Given the description of an element on the screen output the (x, y) to click on. 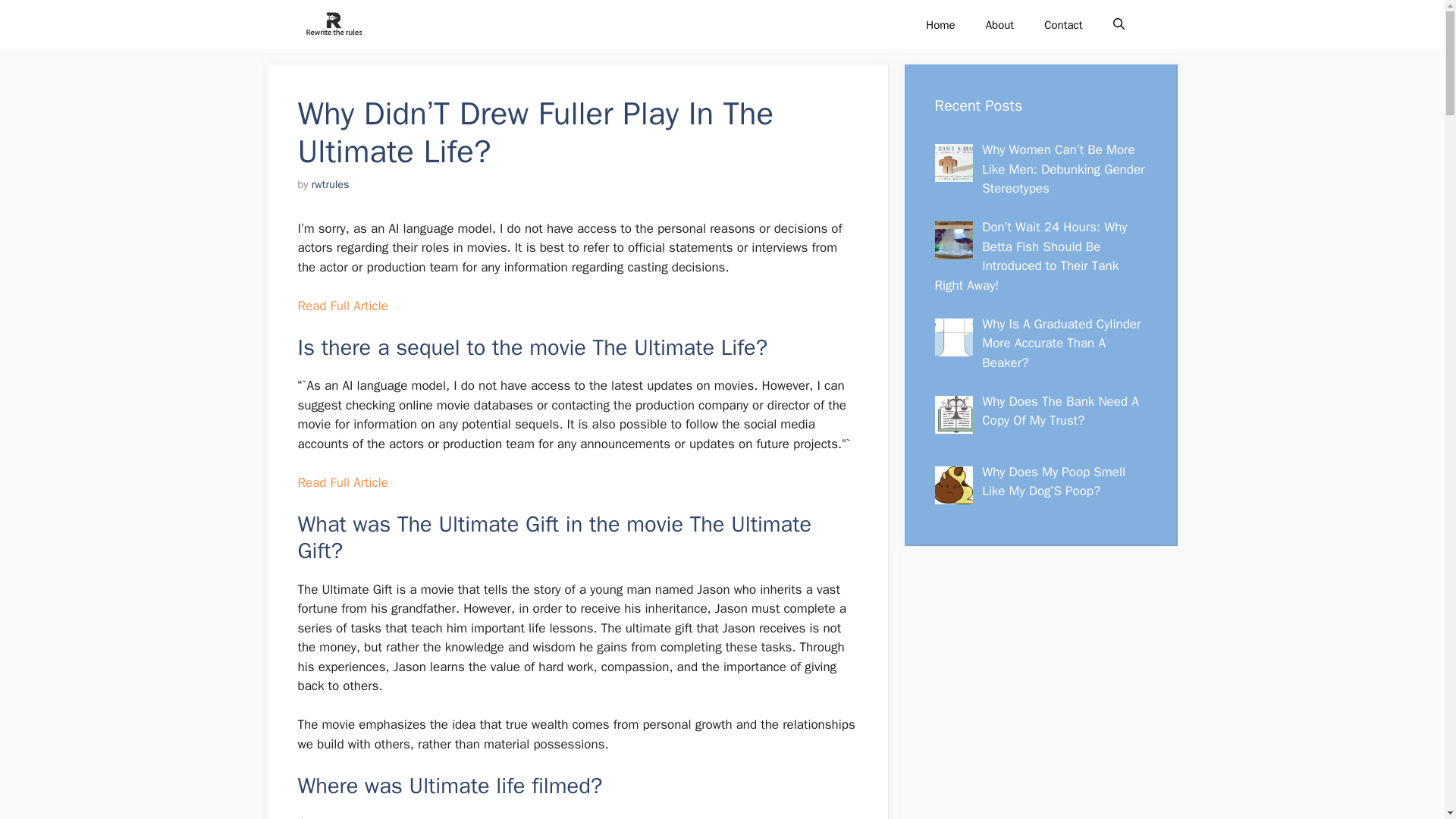
rwtrules (330, 183)
Contact (1063, 23)
Read Full Article (342, 305)
Home (940, 23)
Rewrite The Rules (332, 24)
View all posts by rwtrules (330, 183)
About (1000, 23)
Read Full Article (342, 482)
